Given the description of an element on the screen output the (x, y) to click on. 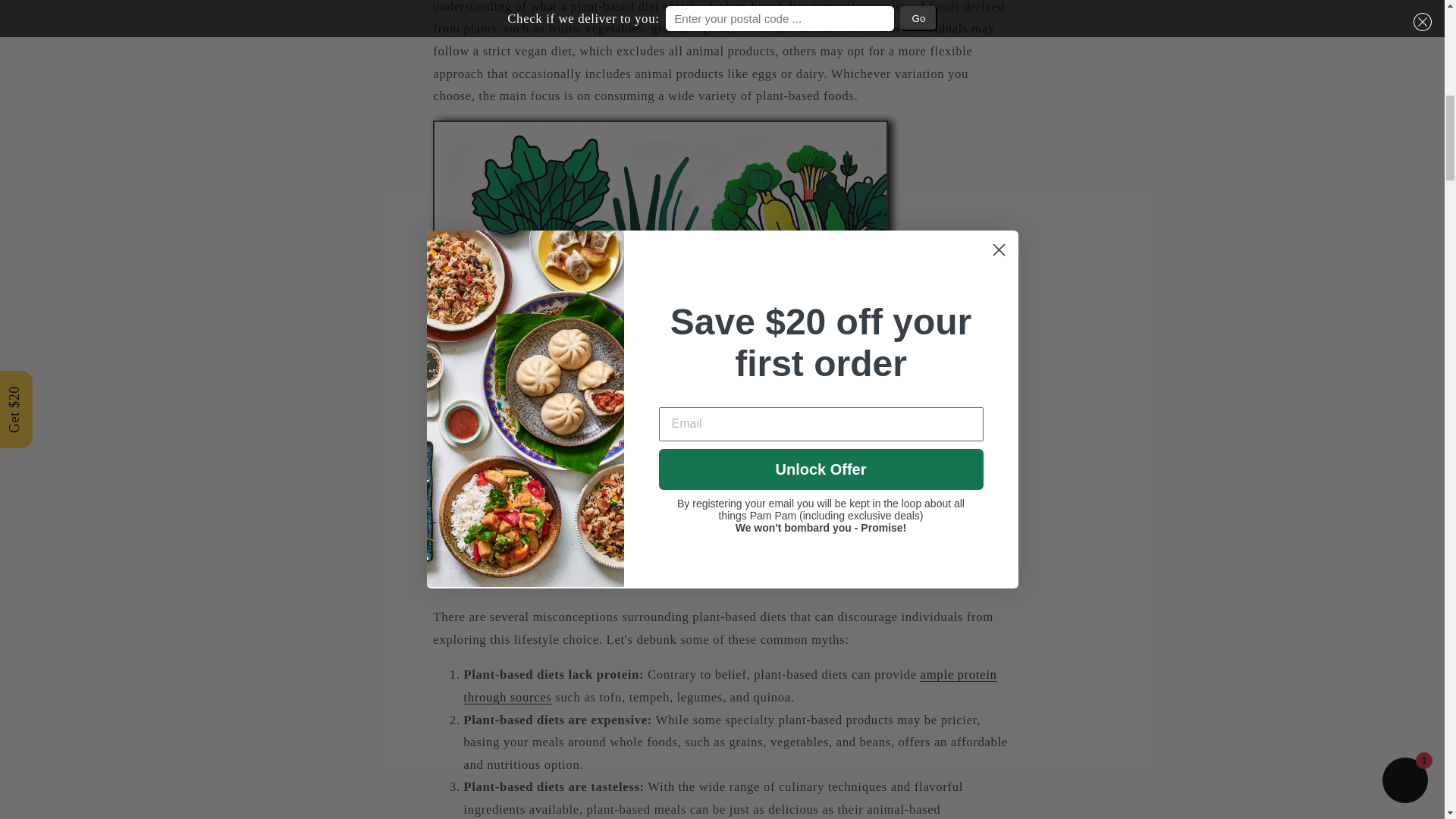
benefits of plant-based eating (653, 384)
ample protein through sources (729, 685)
